Given the description of an element on the screen output the (x, y) to click on. 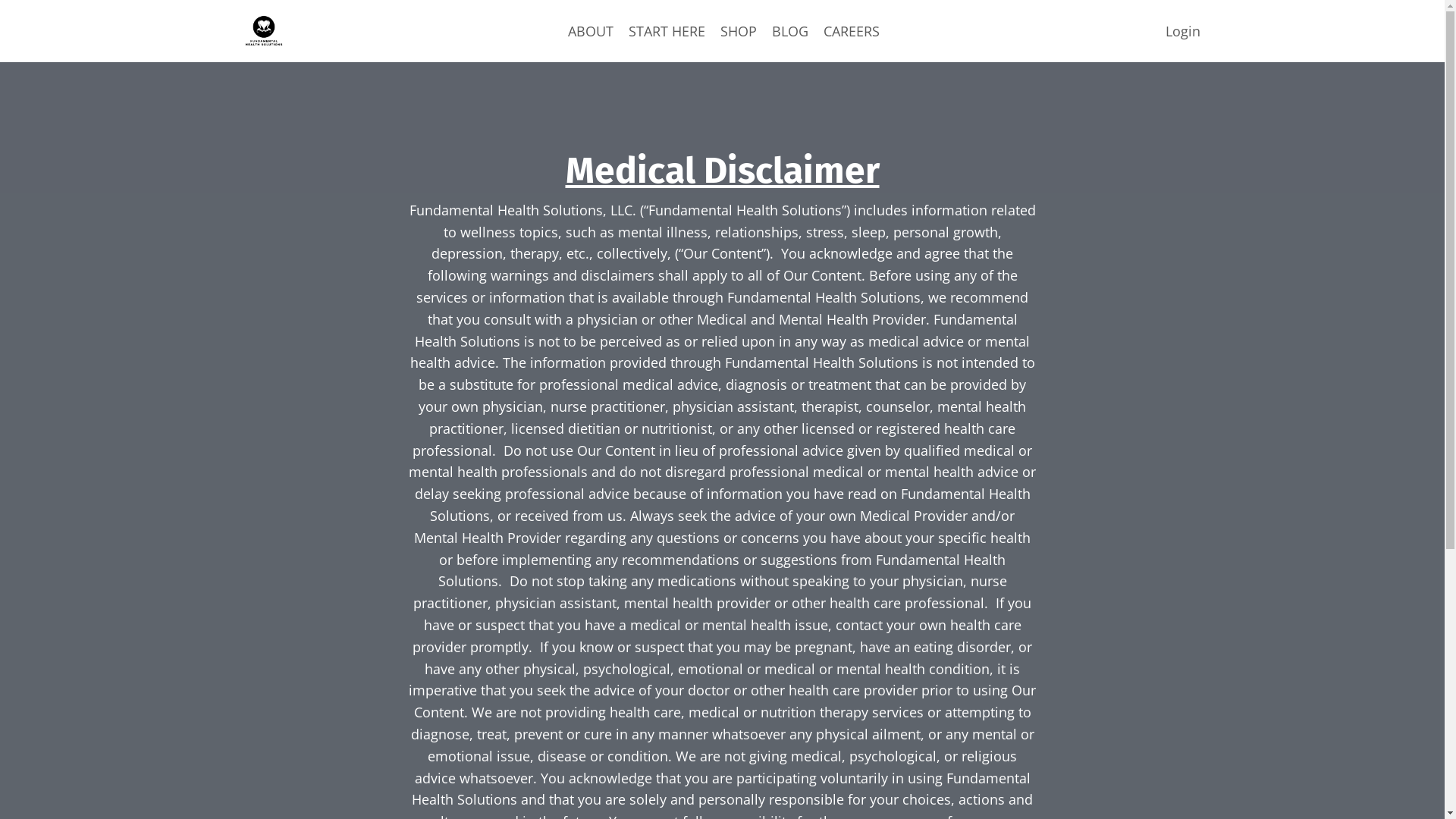
CAREERS Element type: text (851, 31)
START HERE Element type: text (666, 31)
ABOUT Element type: text (590, 31)
Login Element type: text (1181, 30)
SHOP Element type: text (738, 31)
BLOG Element type: text (789, 31)
